Given the description of an element on the screen output the (x, y) to click on. 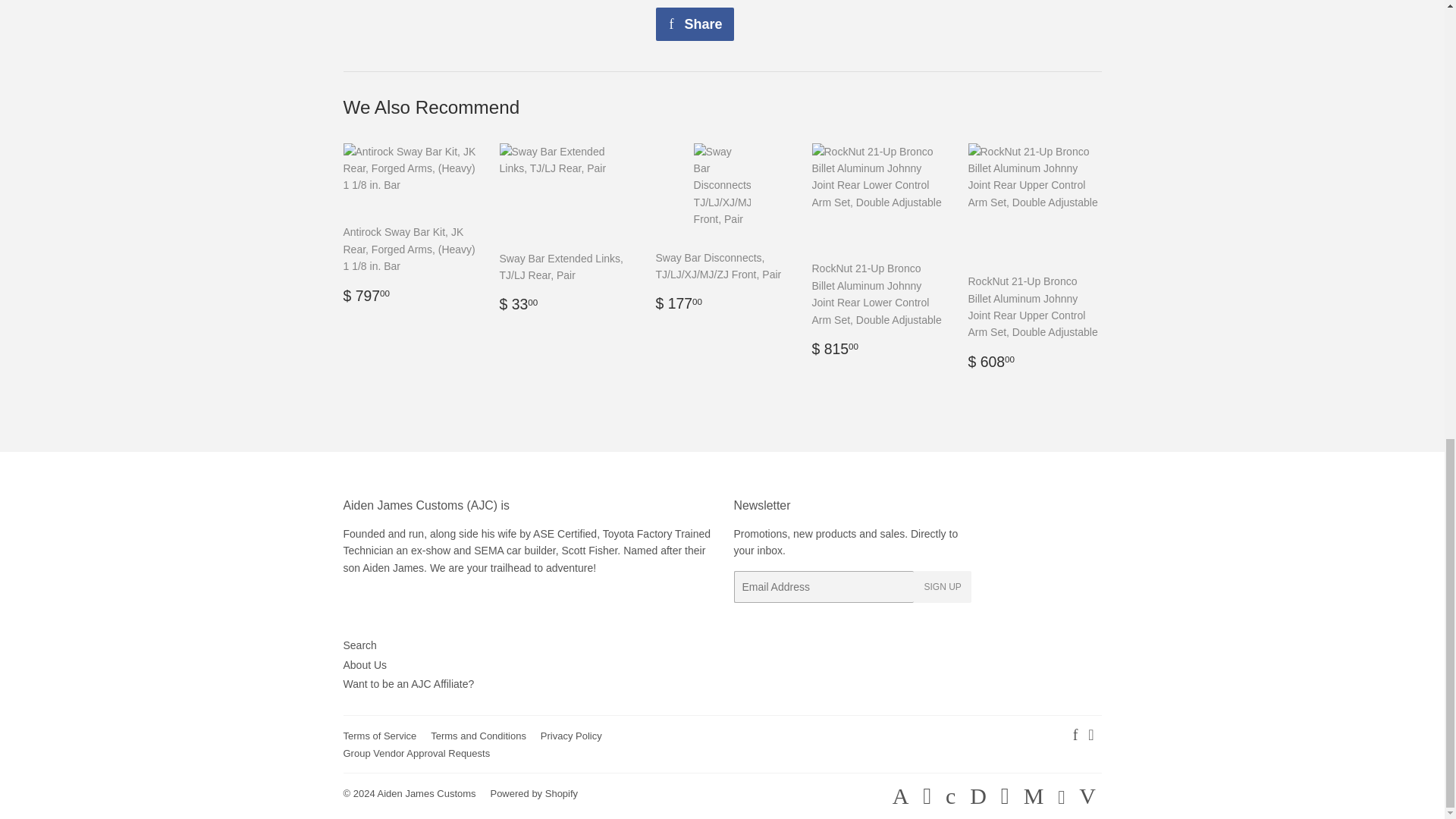
About Us (364, 664)
Share on Facebook (694, 23)
SIGN UP (942, 586)
Search (358, 645)
